Given the description of an element on the screen output the (x, y) to click on. 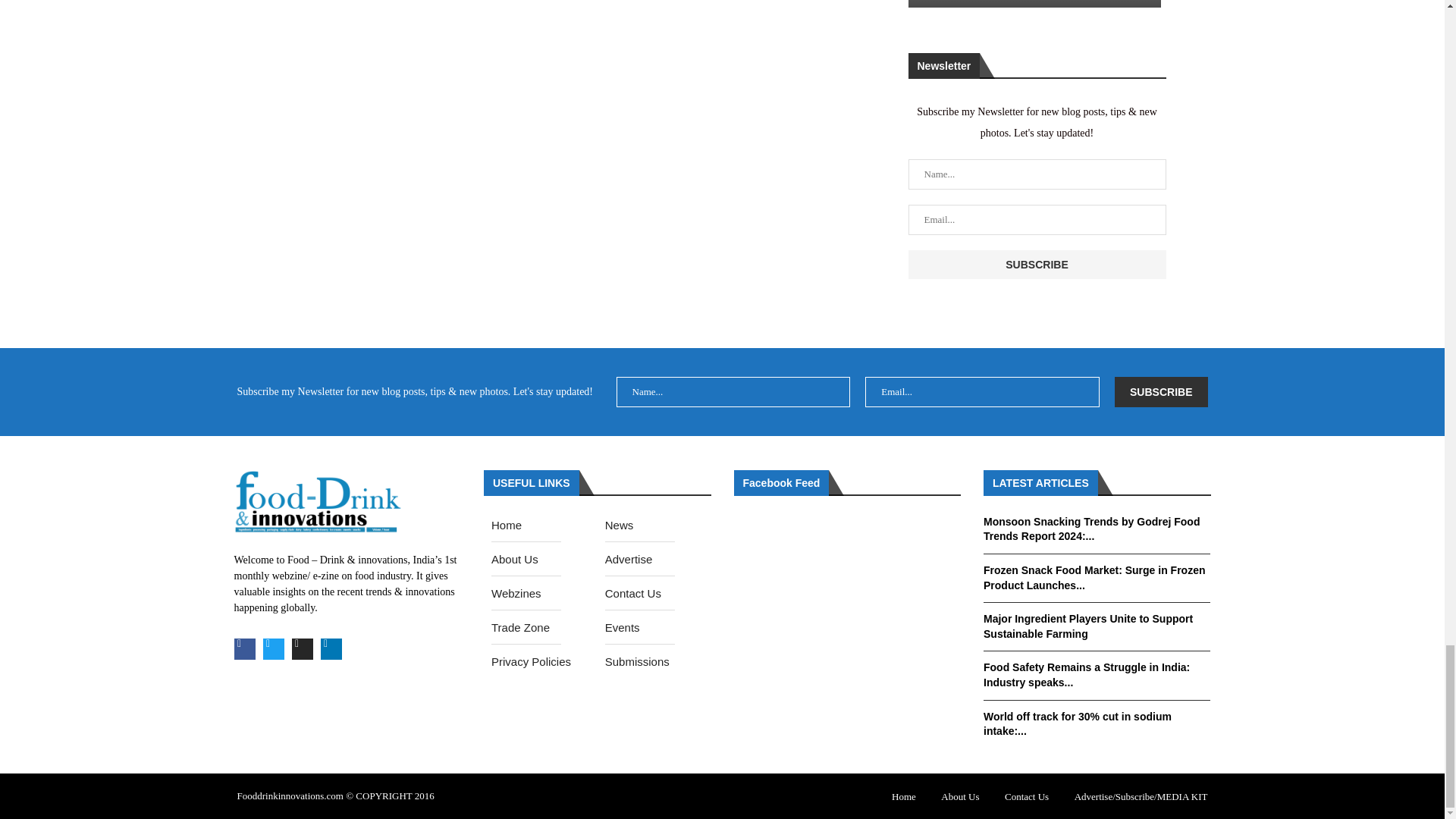
Subscribe (1161, 391)
Subscribe (1037, 264)
